Given the description of an element on the screen output the (x, y) to click on. 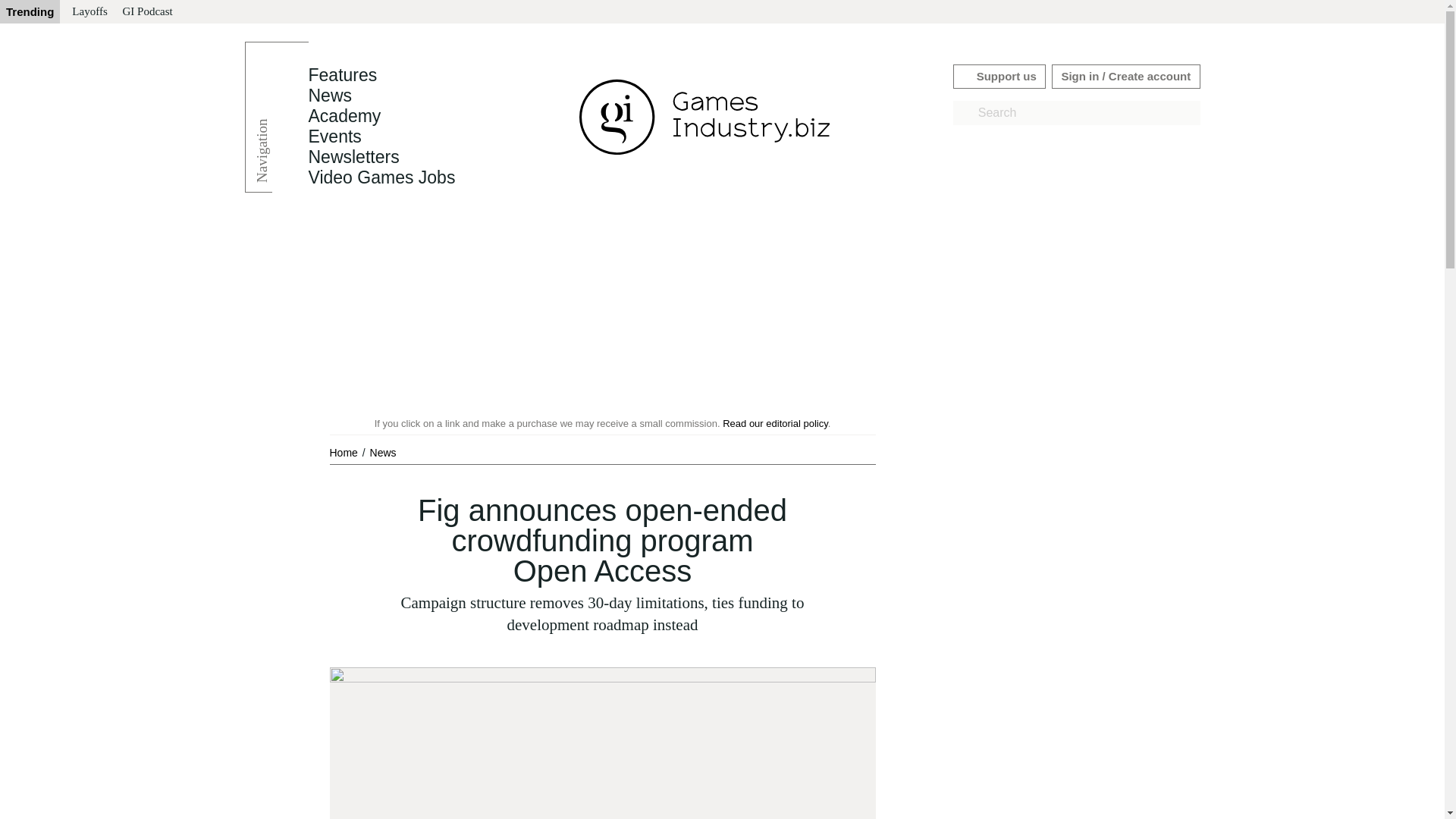
Home (344, 452)
Newsletters (352, 157)
Layoffs (89, 11)
Support us (999, 75)
Features (342, 75)
News (329, 95)
GI Podcast (146, 11)
Layoffs (89, 11)
Home (344, 452)
Video Games Jobs (380, 177)
Video Games Jobs (380, 177)
Features (342, 75)
Events (334, 136)
Academy (343, 116)
Read our editorial policy (775, 423)
